Given the description of an element on the screen output the (x, y) to click on. 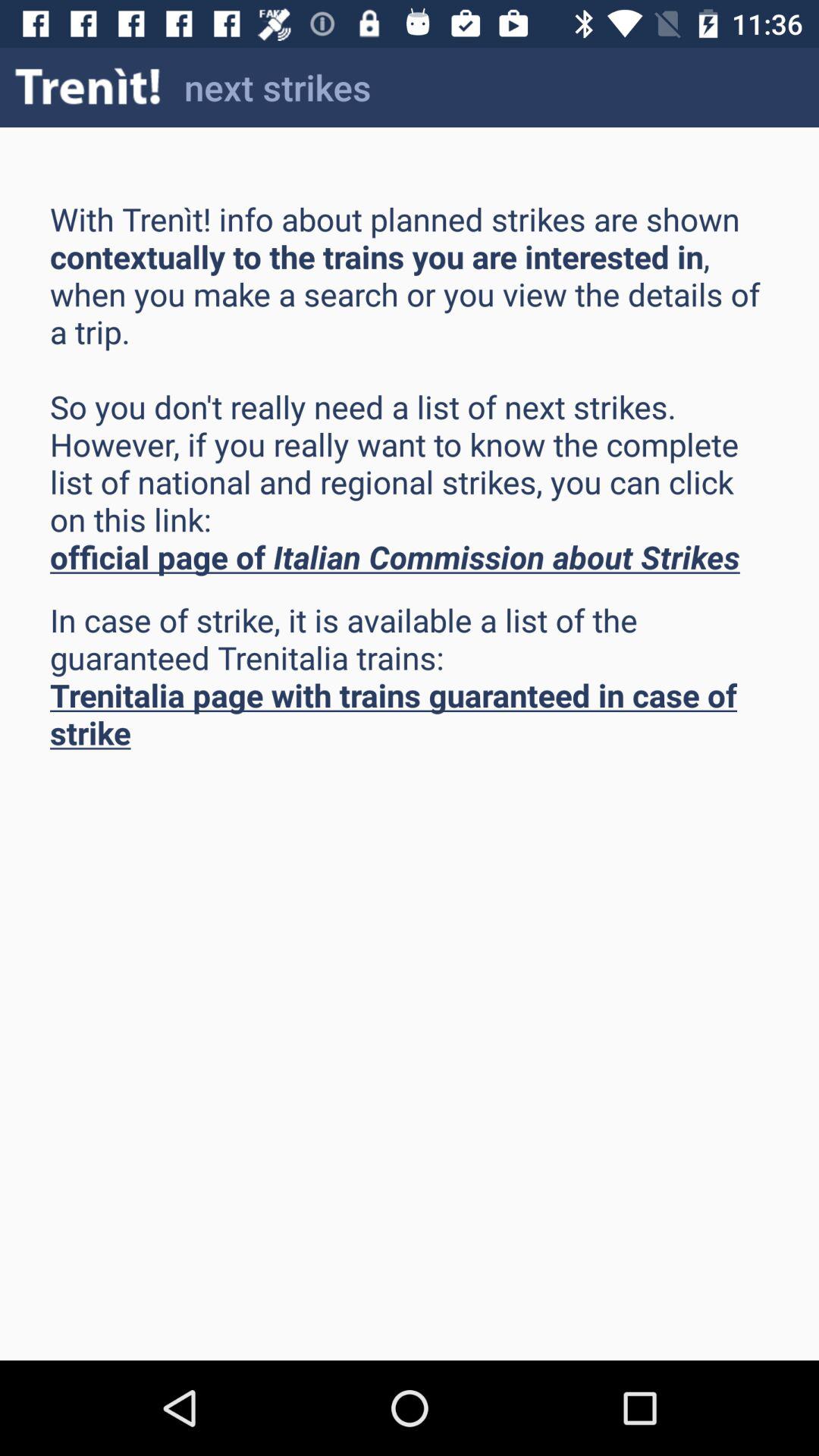
launch the item to the left of next strikes (88, 87)
